Given the description of an element on the screen output the (x, y) to click on. 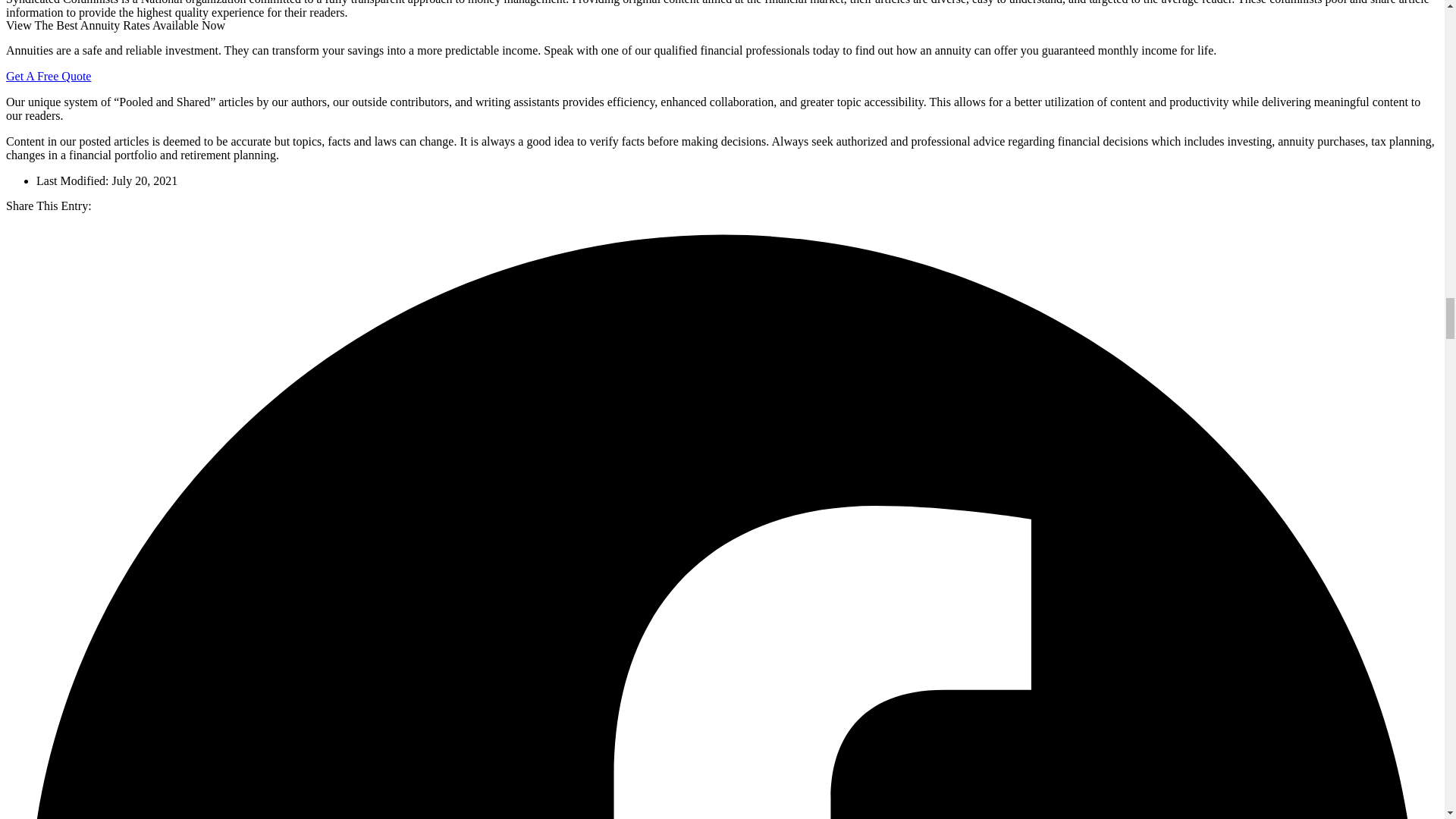
Get A Free Quote (47, 75)
